Given the description of an element on the screen output the (x, y) to click on. 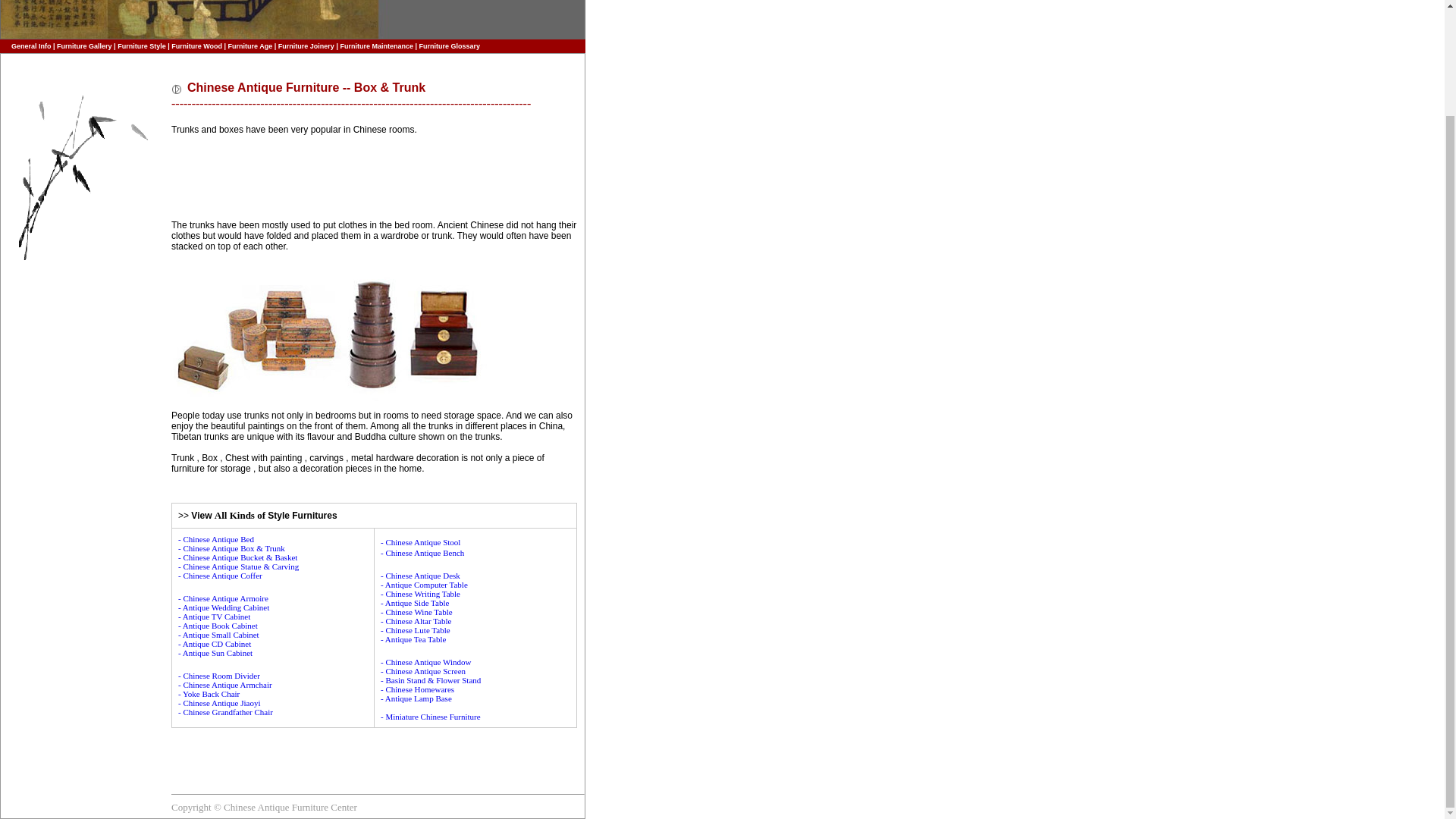
Furniture Style (141, 45)
- Chinese Altar Table (415, 620)
- Chinese Antique Desk (420, 574)
- Chinese Antique Stool (420, 542)
- Chinese Antique Bench (422, 556)
Furniture Gallery (84, 45)
- Antique Side Table (414, 602)
Furniture Maintenance (375, 45)
- Chinese Writing Table (420, 593)
- Antique Book Cabinet (217, 624)
